Given the description of an element on the screen output the (x, y) to click on. 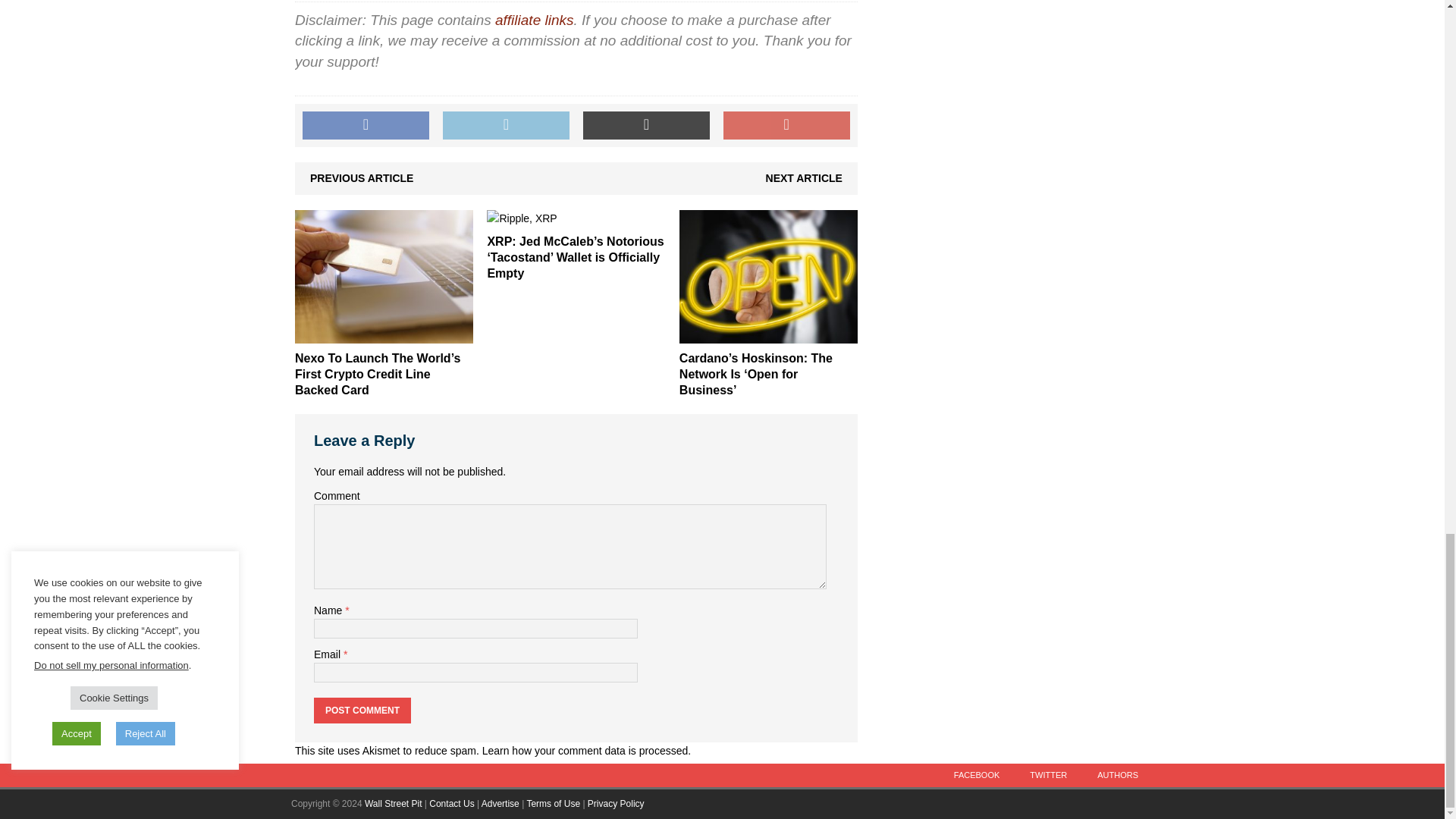
Share on Facebook (365, 125)
Tweet This Post (505, 125)
Post Comment (362, 710)
Share on Reddit (646, 125)
